Given the description of an element on the screen output the (x, y) to click on. 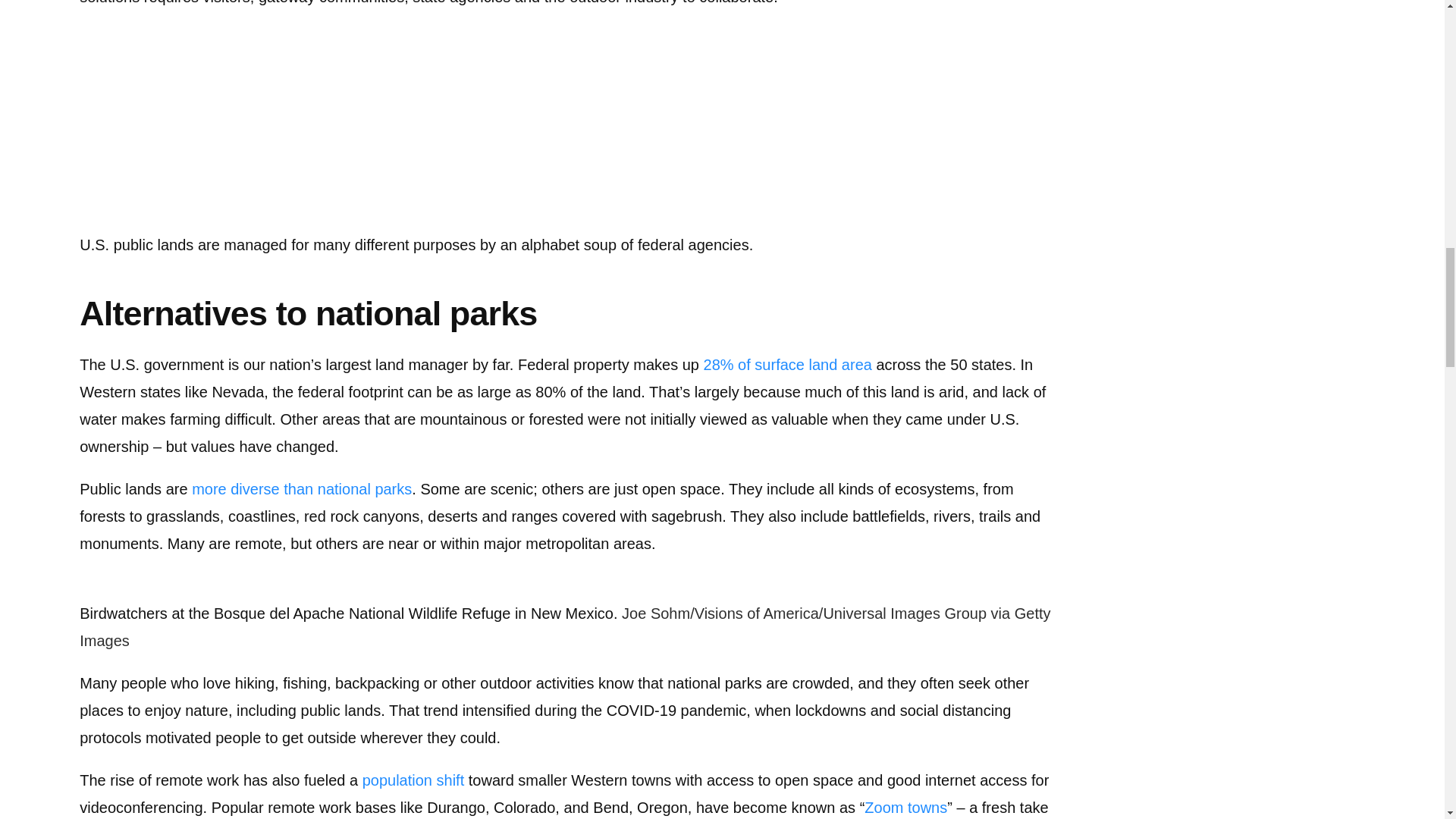
more diverse than national parks (302, 488)
population shift (413, 780)
Zoom towns (905, 807)
